Given the description of an element on the screen output the (x, y) to click on. 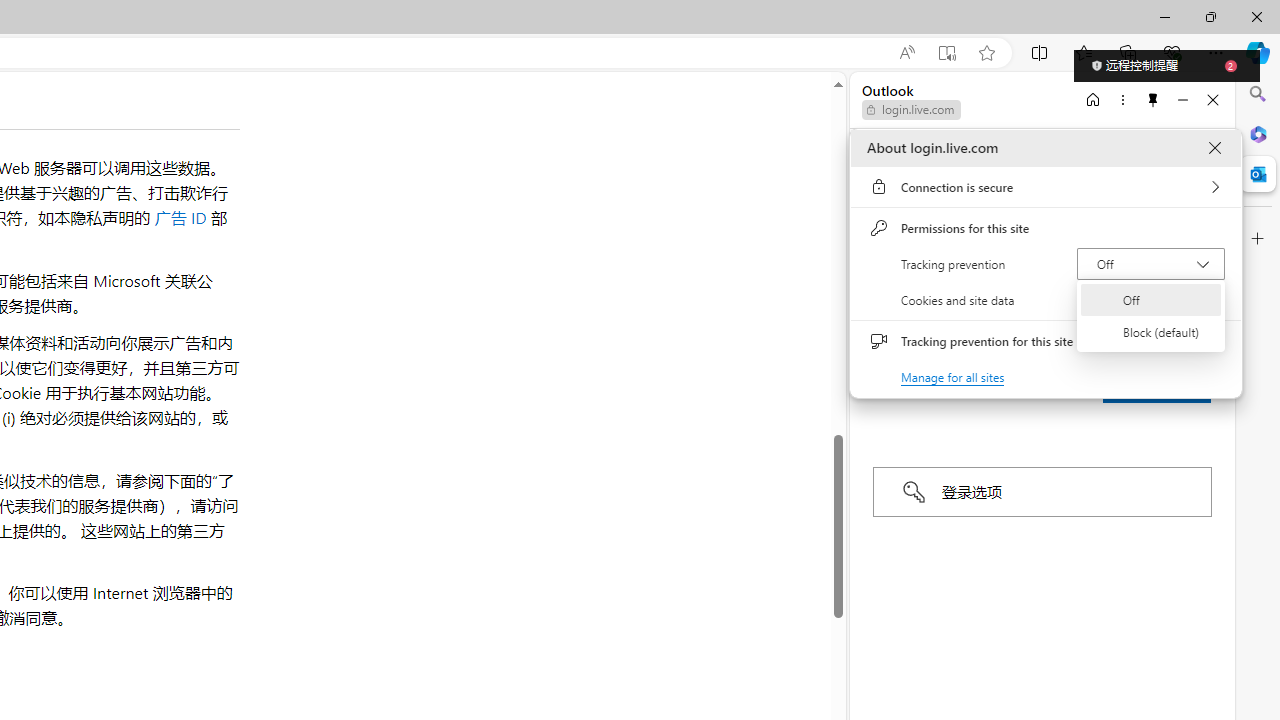
Block (default) (1151, 331)
Tracking prevention for this site (Balanced) (1204, 341)
Cookies and site data (1046, 300)
Permissions for this site (1046, 228)
About login.live.com (1214, 147)
Off (1151, 299)
Connection is secure (1046, 187)
Manage for all sites (952, 376)
Tracking prevention Off (1150, 263)
